Given the description of an element on the screen output the (x, y) to click on. 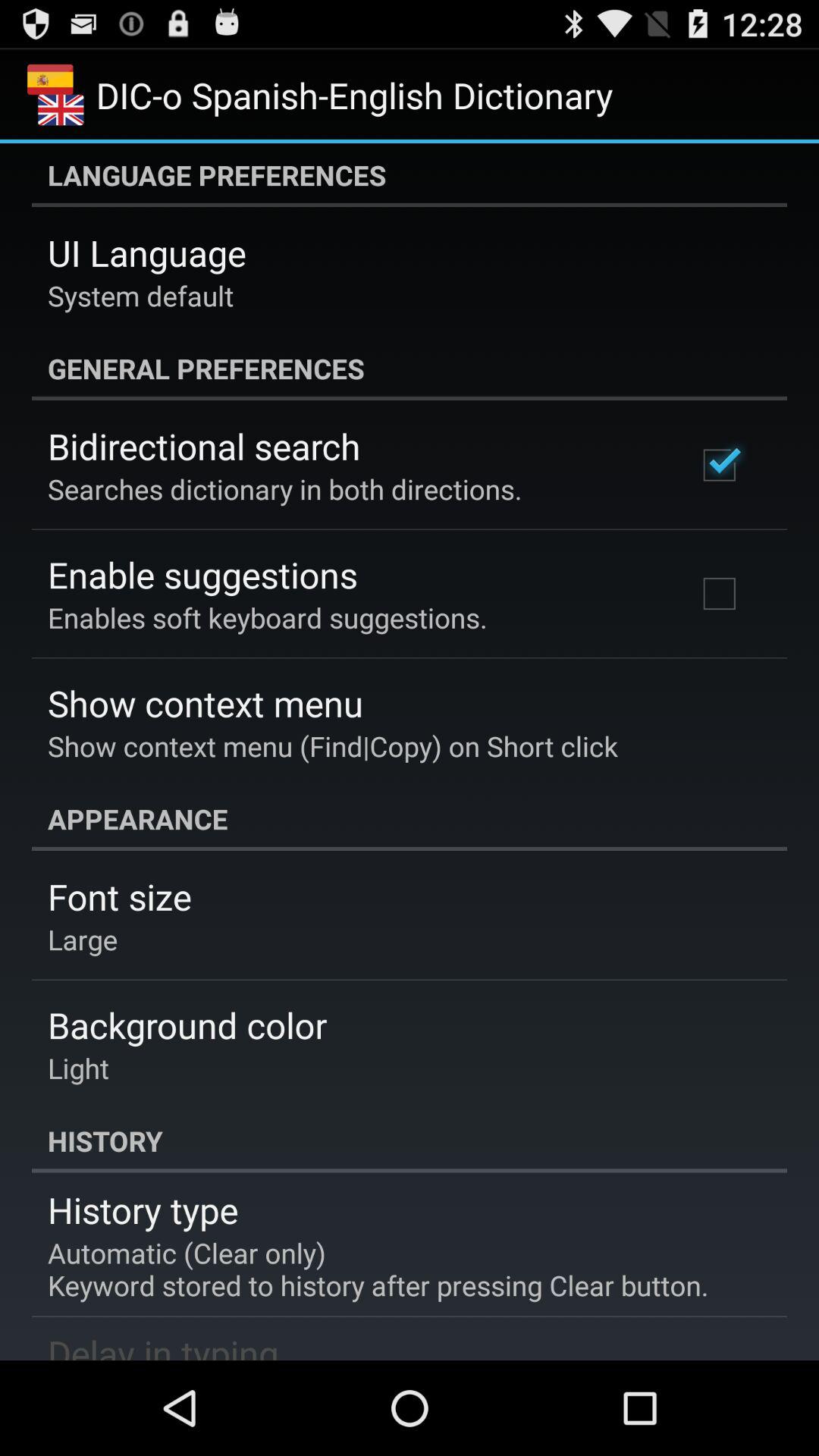
tap icon above enable suggestions icon (284, 488)
